Given the description of an element on the screen output the (x, y) to click on. 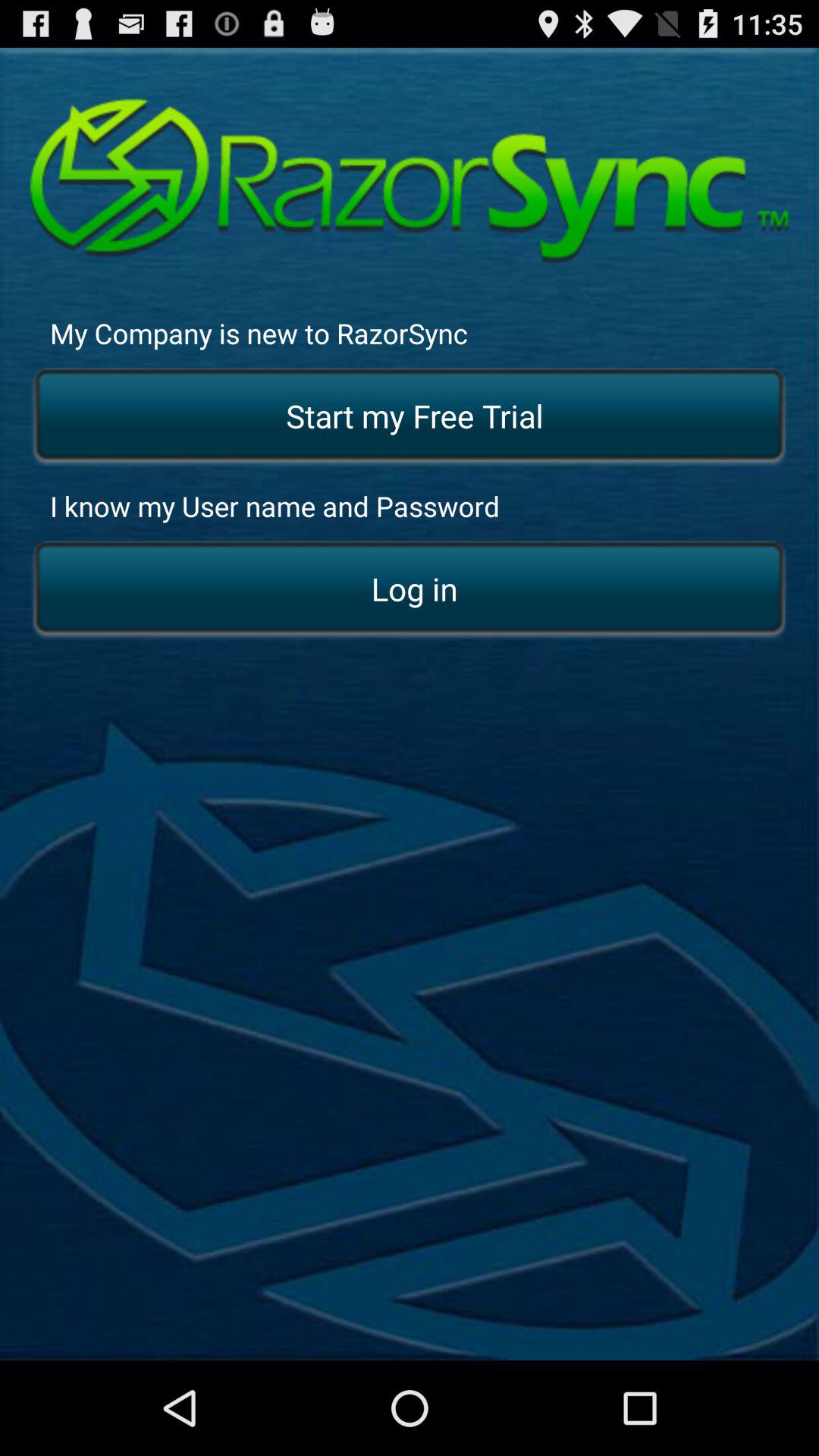
turn on app below the i know my (409, 590)
